Given the description of an element on the screen output the (x, y) to click on. 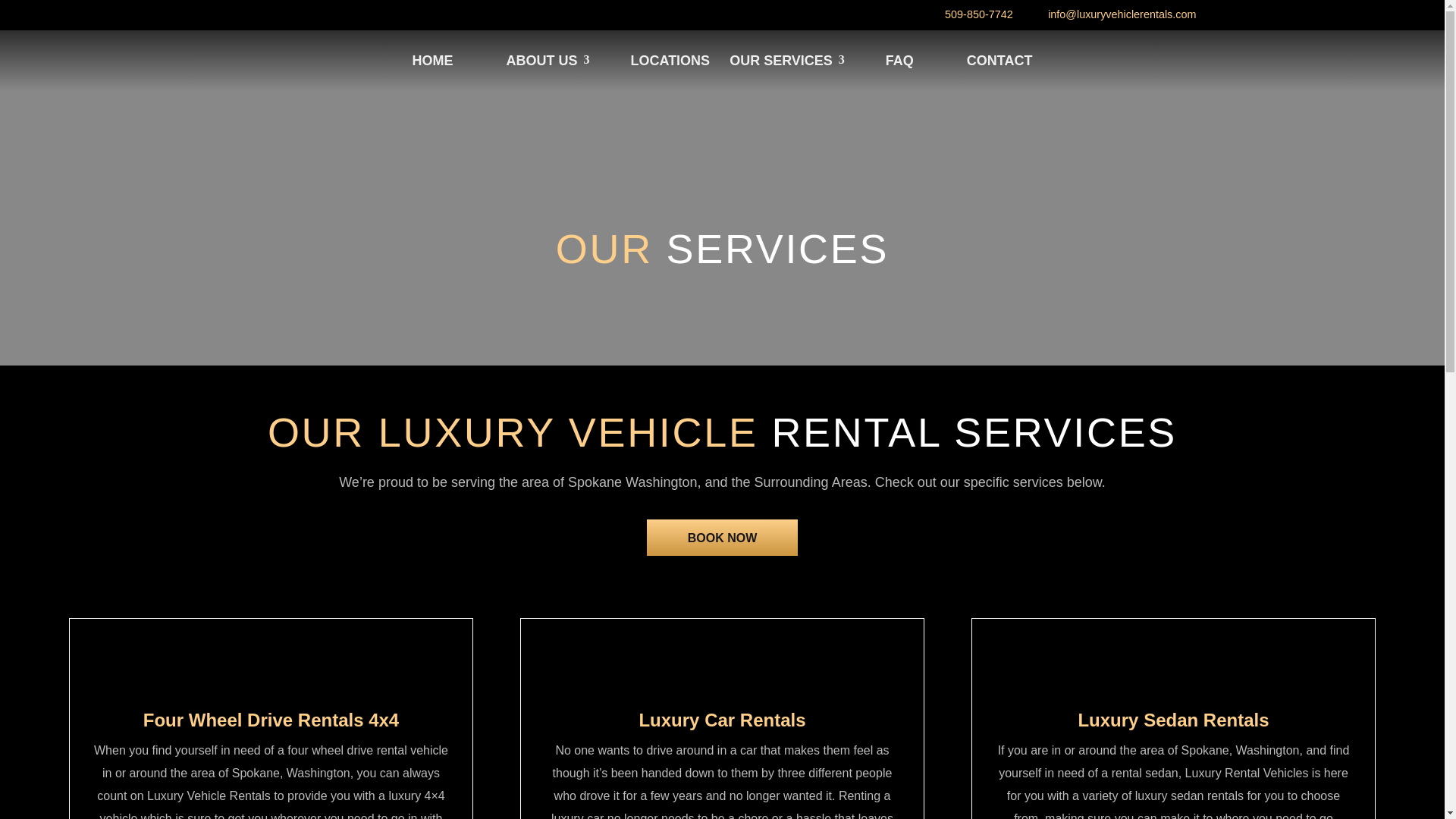
CONTACT (999, 60)
ABOUT US (541, 60)
FAQ (899, 60)
509-850-7742 (978, 14)
BOOK NOW (721, 537)
OUR SERVICES (781, 60)
LOCATIONS (669, 60)
HOME (432, 60)
